Given the description of an element on the screen output the (x, y) to click on. 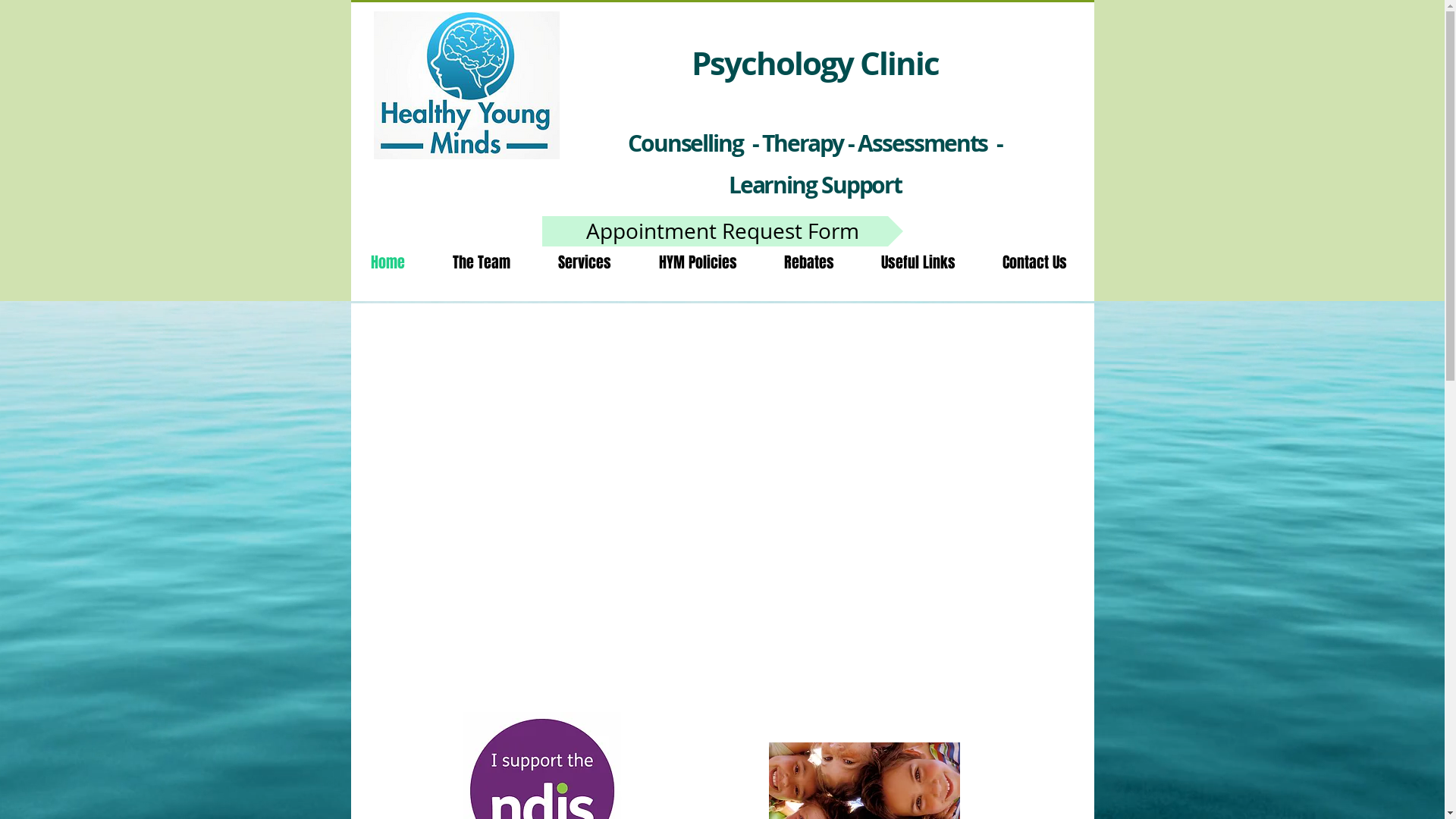
HYM Policies Element type: text (697, 262)
Useful Links Element type: text (917, 262)
The Team Element type: text (481, 262)
Home Element type: text (388, 262)
Services Element type: text (583, 262)
Appointment Request Form Element type: text (721, 231)
Rebates Element type: text (807, 262)
HYM 2.png Element type: hover (465, 85)
Contact Us Element type: text (1033, 262)
